Given the description of an element on the screen output the (x, y) to click on. 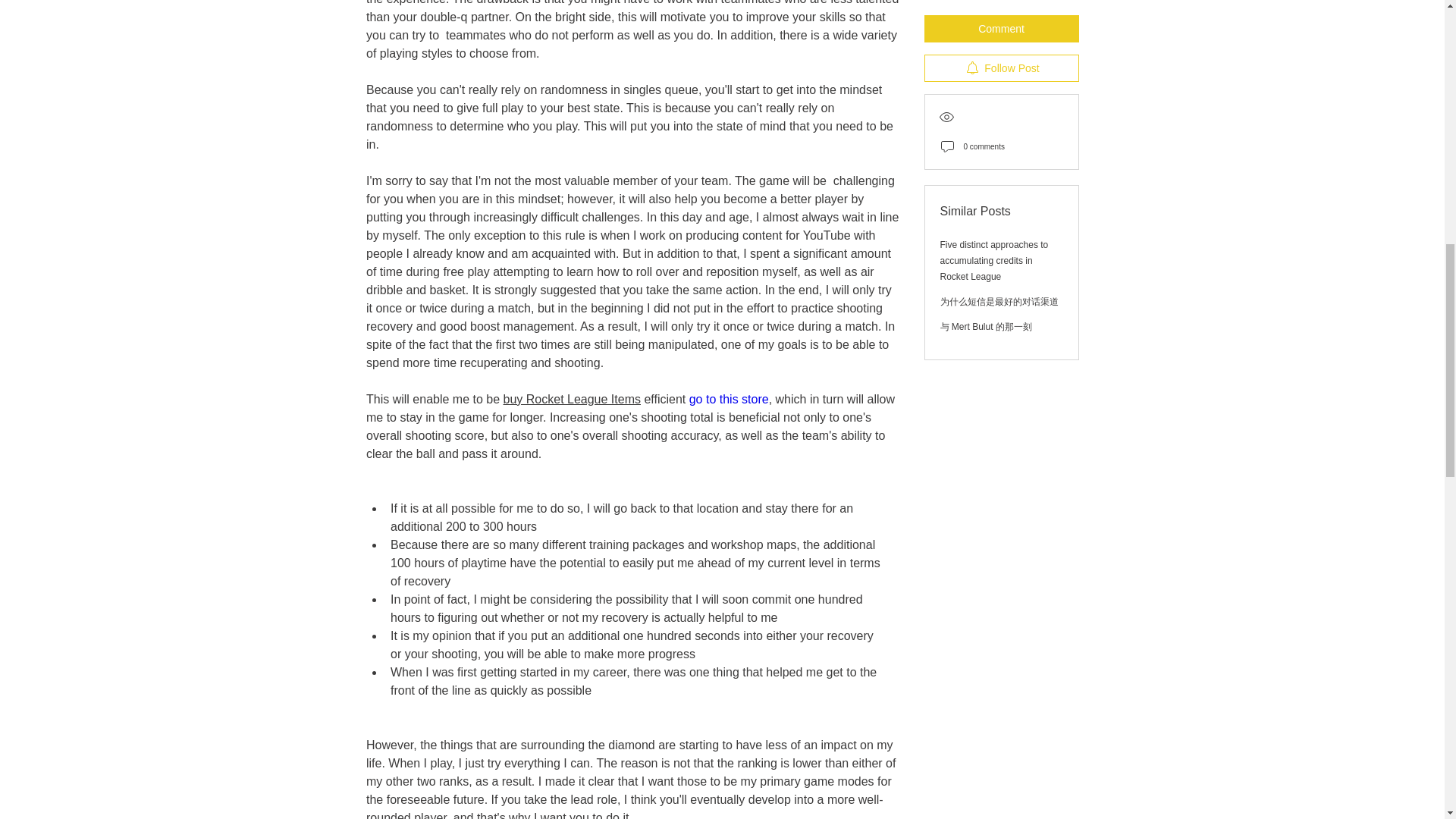
go to this store (728, 399)
